Given the description of an element on the screen output the (x, y) to click on. 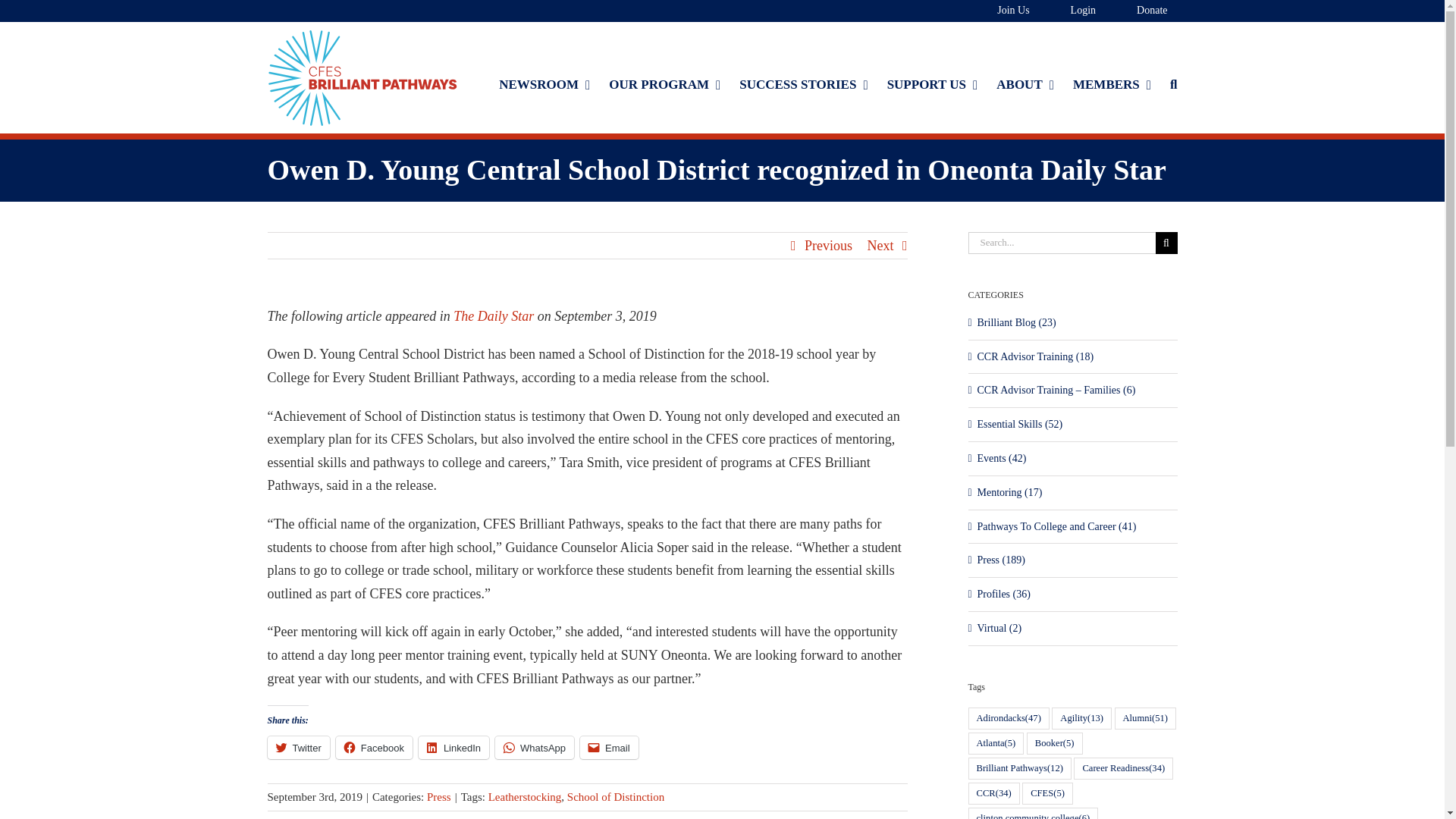
OUR PROGRAM (664, 84)
Click to share on WhatsApp (534, 746)
Login (1073, 10)
SUPPORT US (932, 84)
Donate (1141, 10)
Click to share on Twitter (297, 746)
Join Us (1002, 10)
NEWSROOM (544, 84)
SUCCESS STORIES (803, 84)
Click to email a link to a friend (609, 746)
